Given the description of an element on the screen output the (x, y) to click on. 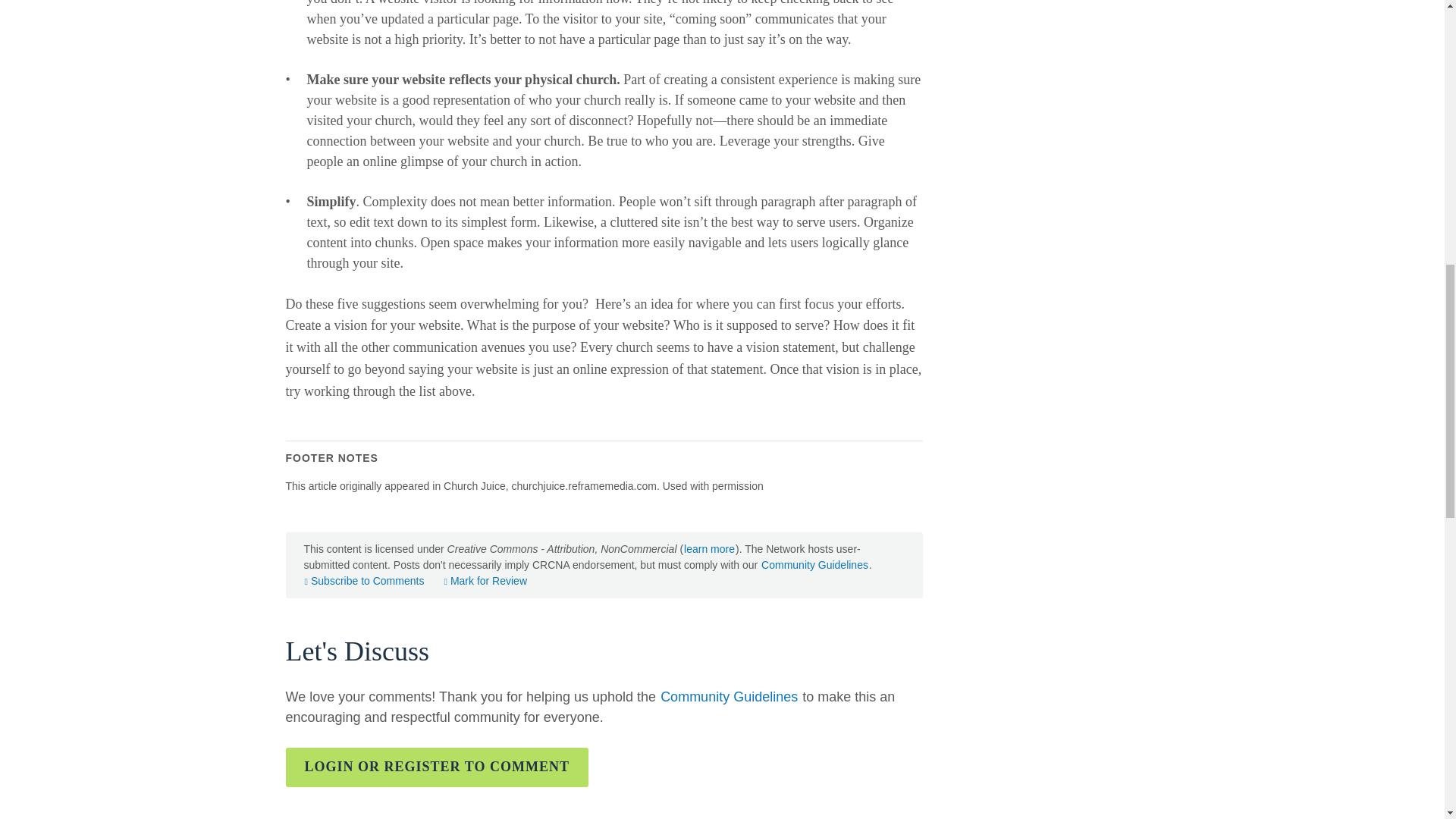
Subscribe to Comments (363, 581)
Mark for Review (484, 581)
Community Guidelines (728, 696)
learn more (708, 549)
Community Guidelines (814, 564)
LOGIN OR REGISTER TO COMMENT (436, 767)
